Given the description of an element on the screen output the (x, y) to click on. 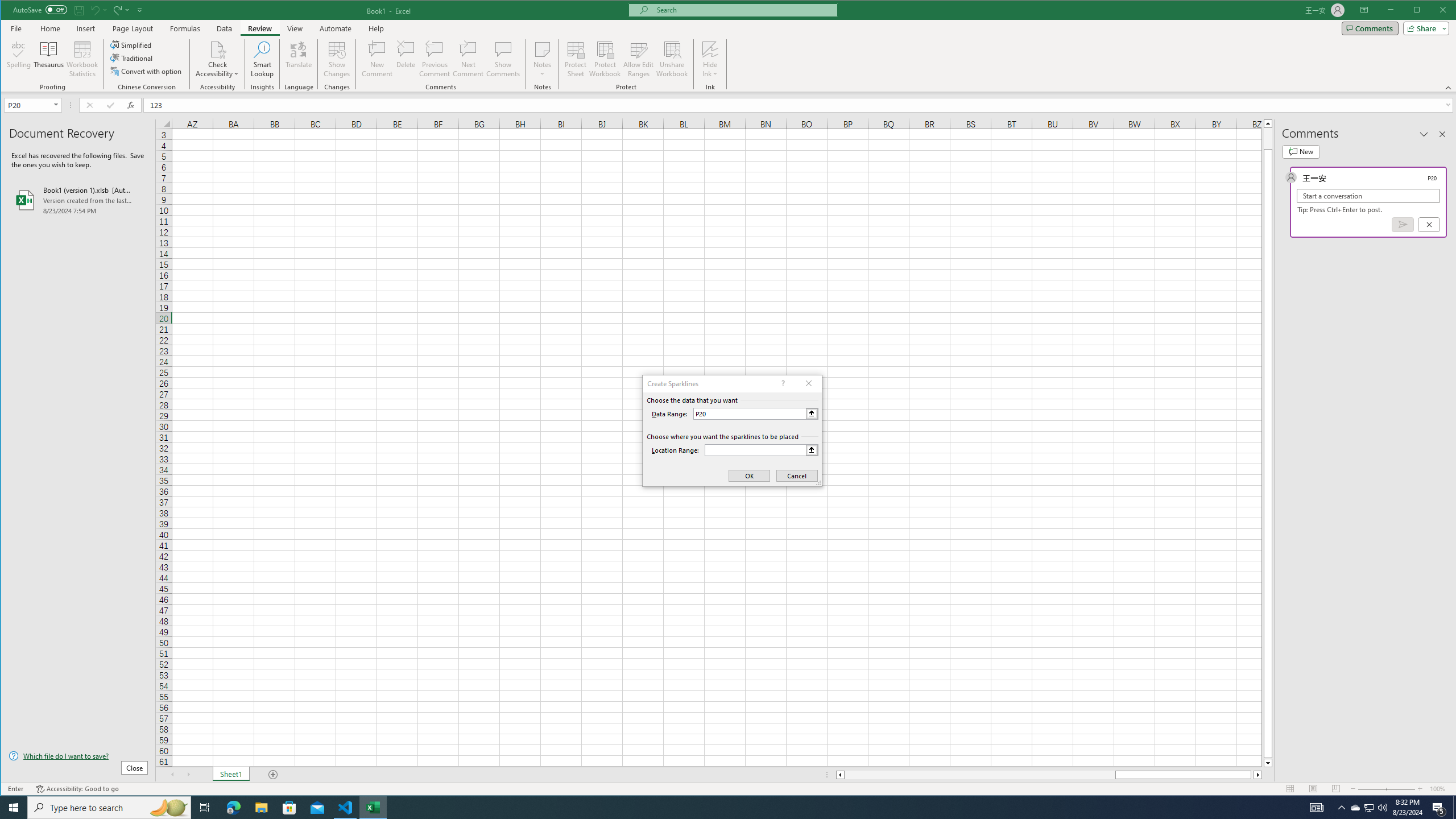
Next Comment (467, 59)
Spelling... (18, 59)
Traditional (132, 57)
Unshare Workbook (671, 59)
Automate (336, 28)
Book1 (version 1).xlsb  [AutoRecovered] (78, 199)
Previous Comment (434, 59)
Normal (1290, 788)
Workbook Statistics (82, 59)
AutoSave (39, 9)
